Given the description of an element on the screen output the (x, y) to click on. 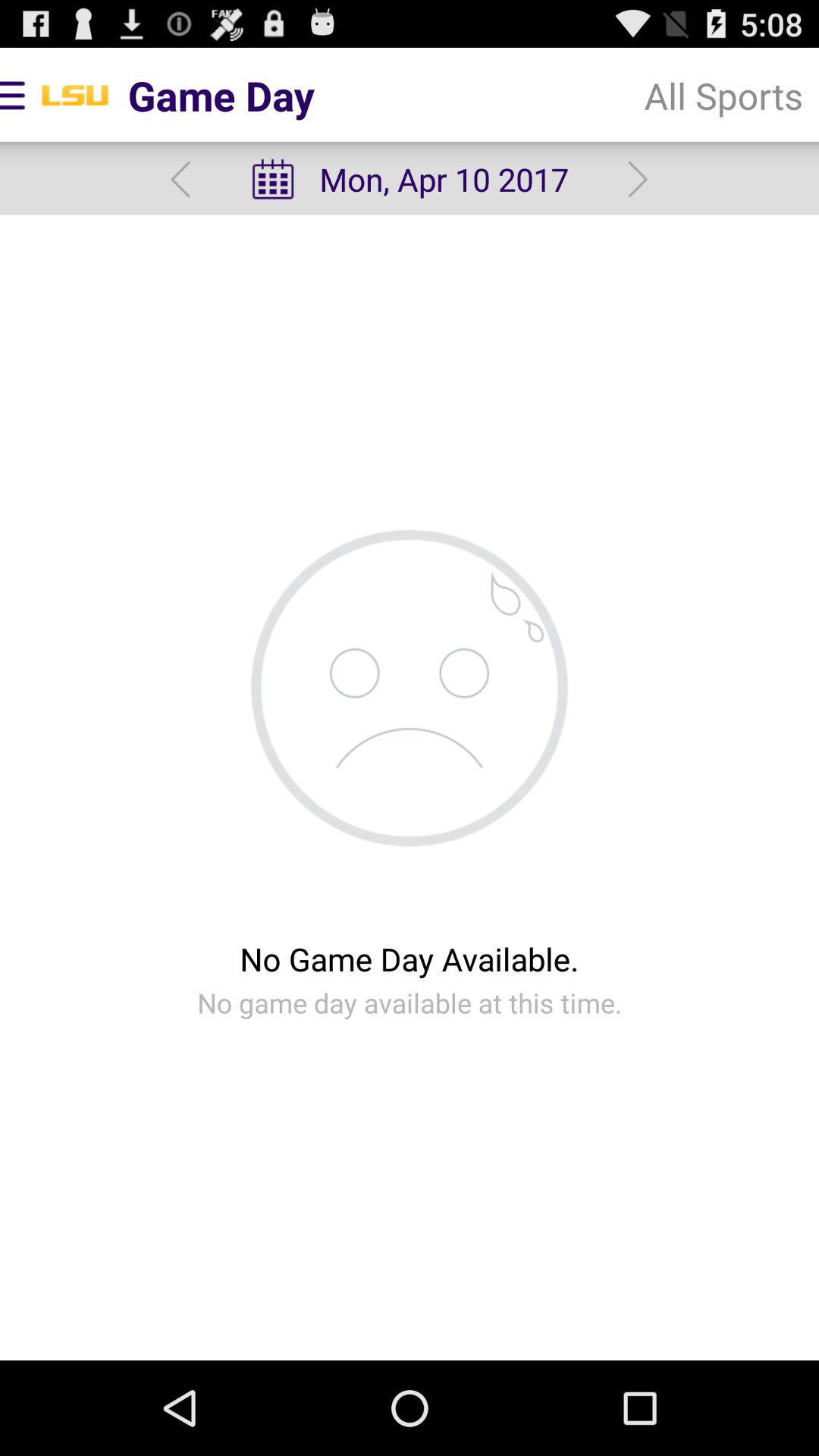
swipe to all sports (723, 95)
